Given the description of an element on the screen output the (x, y) to click on. 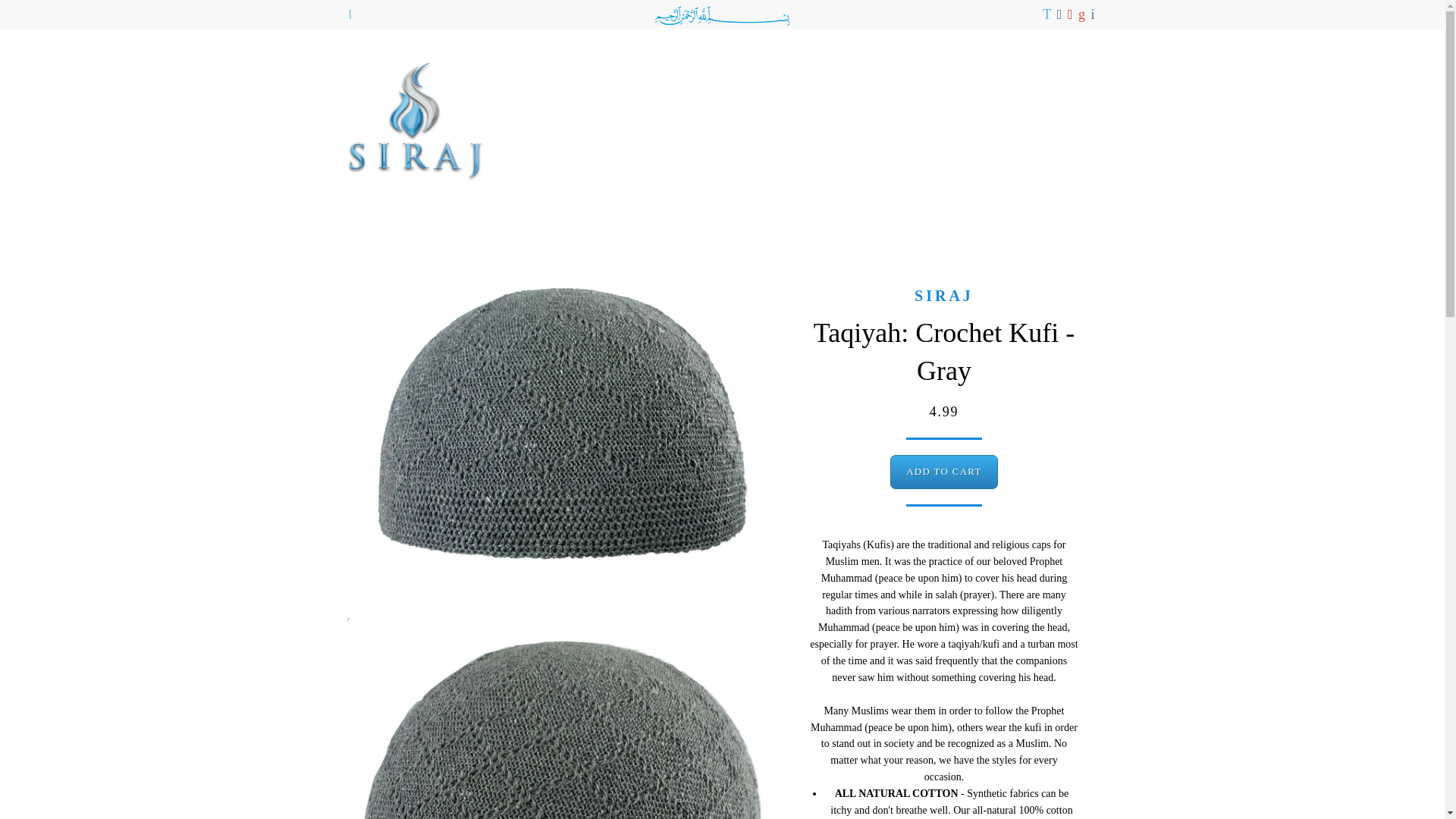
ADD TO CART (943, 471)
Siraj Islamic Lifestyle Store on Twitter (1048, 15)
